Given the description of an element on the screen output the (x, y) to click on. 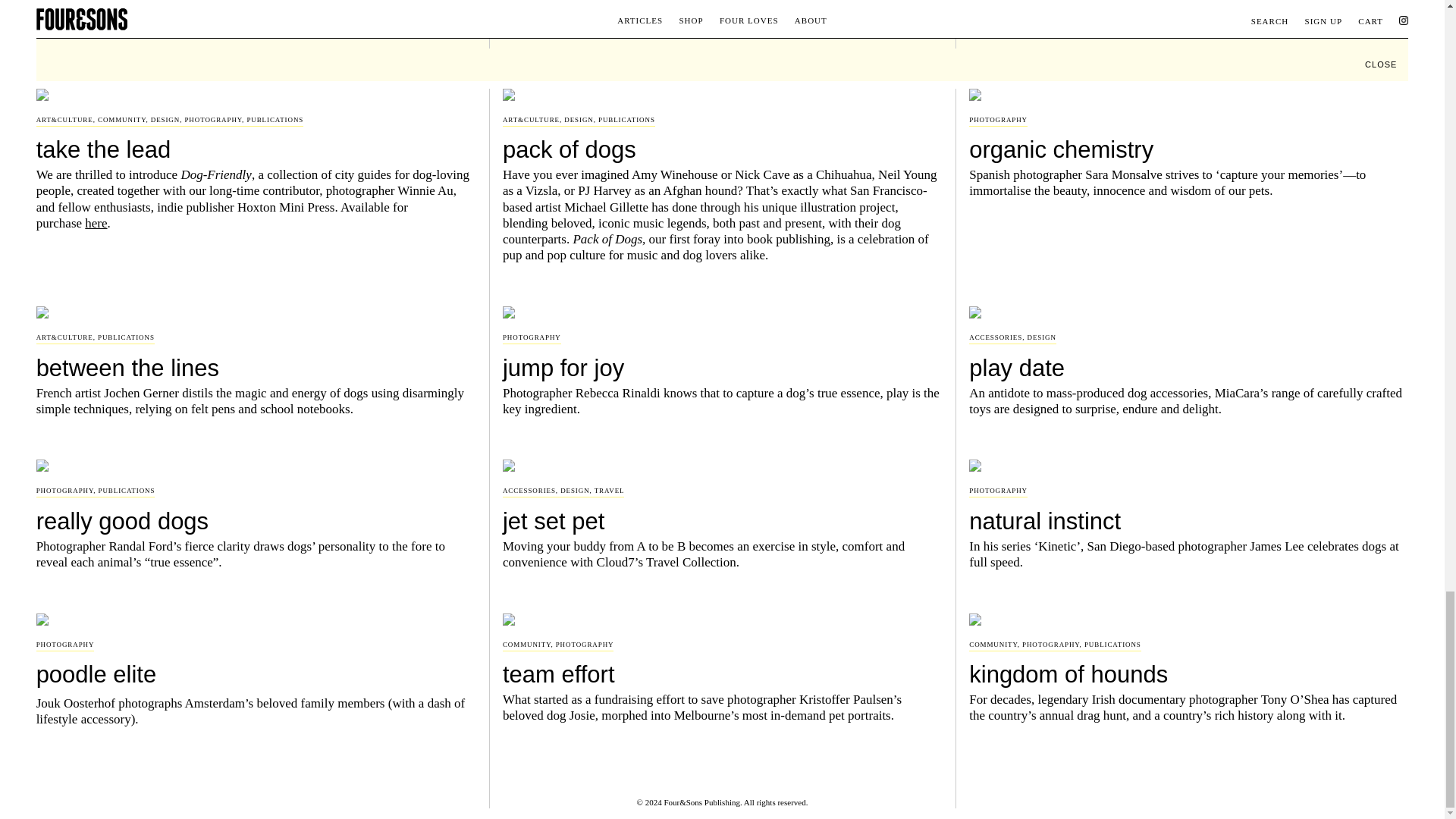
between the lines (256, 365)
pack of dogs (722, 147)
organic chemistry (1188, 147)
DESIGN (578, 119)
PHOTOGRAPHY (212, 119)
PUBLICATIONS (125, 337)
DESIGN (165, 119)
PUBLICATIONS (274, 119)
PHOTOGRAPHY (998, 119)
